Given the description of an element on the screen output the (x, y) to click on. 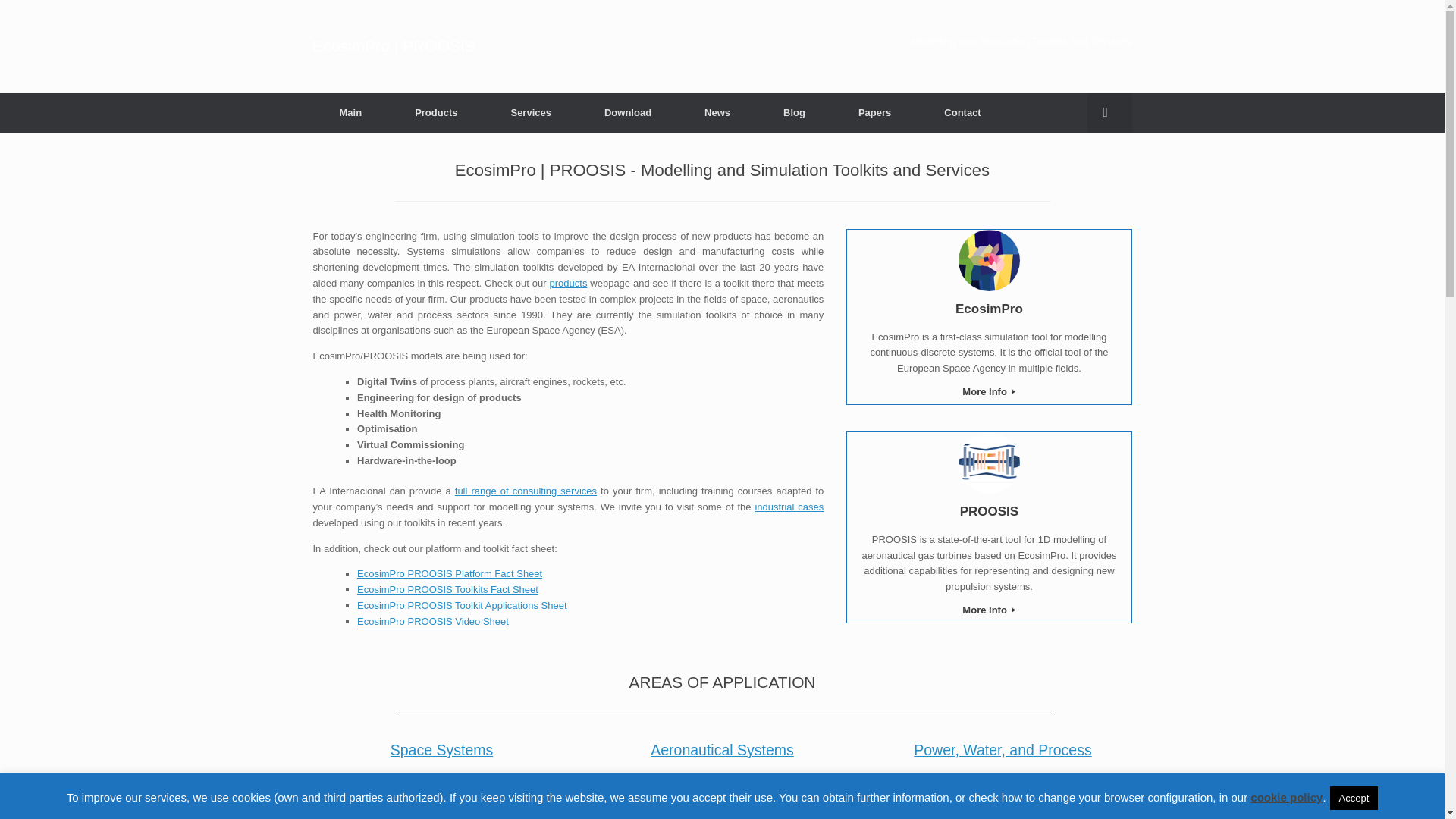
Download (628, 112)
EcosimPro PROOSIS Video Sheet (432, 621)
Papers (874, 112)
products (569, 283)
EcosimPro PROOSIS Toolkits Fact Sheet (447, 589)
Aeronautical Systems (721, 750)
PROOSIS (988, 511)
Blog (794, 112)
Main (350, 112)
EcosimPro PROOSIS Platform Fact Sheet (448, 573)
